Given the description of an element on the screen output the (x, y) to click on. 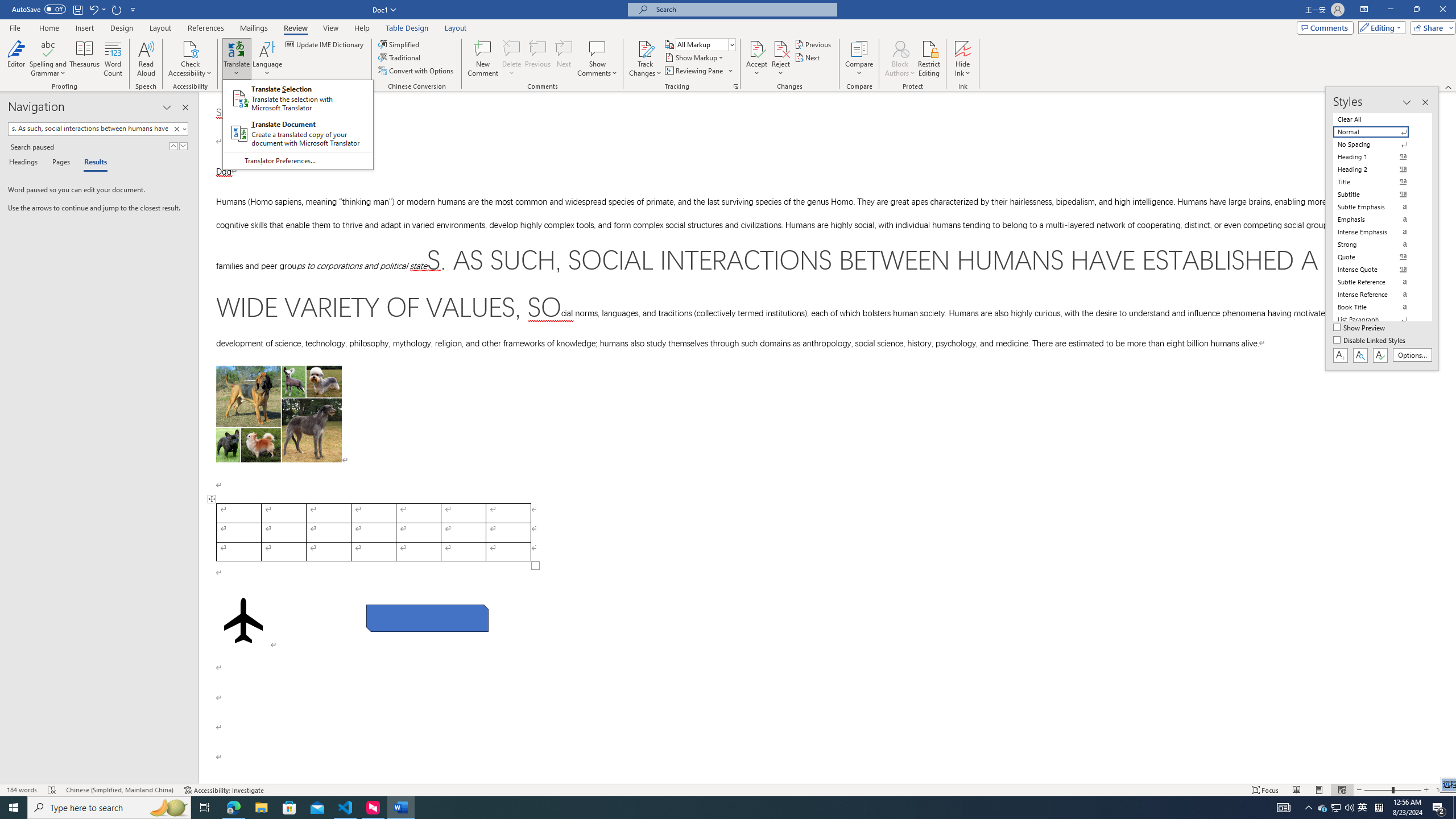
Heading 2 (1377, 169)
Language Chinese (Simplified, Mainland China) (119, 790)
Change Tracking Options... (735, 85)
Type here to search (108, 807)
Translate (236, 58)
Block Authors (900, 48)
Tray Input Indicator - Chinese (Simplified, China) (1378, 807)
Microsoft search (742, 9)
Results (91, 162)
Search document (89, 128)
Restrict Editing (929, 58)
Track Changes (644, 48)
